Given the description of an element on the screen output the (x, y) to click on. 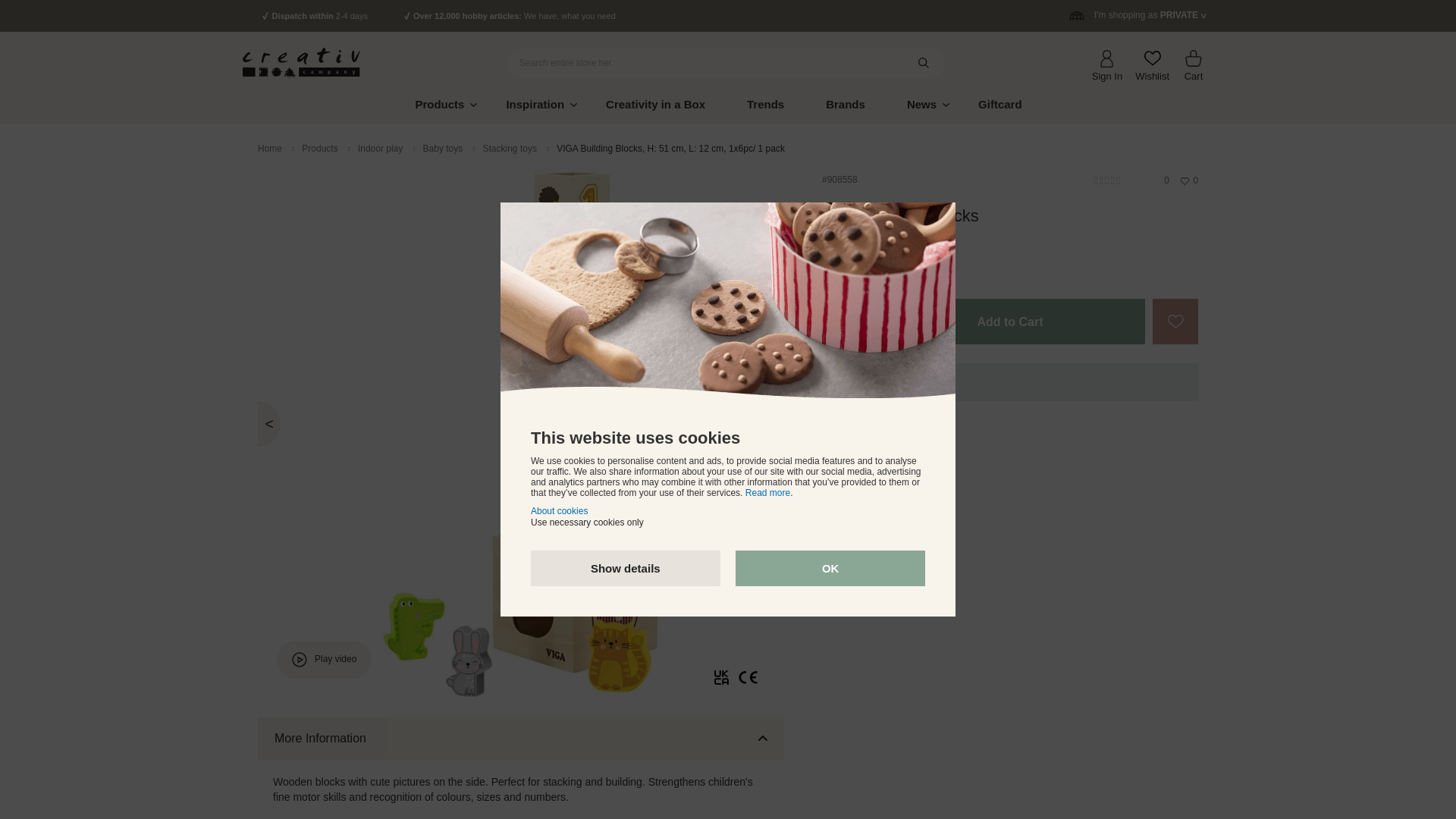
Use necessary cookies only (587, 521)
1 (844, 320)
OK (829, 568)
Read more (767, 492)
About cookies (559, 511)
Show details (625, 568)
